Given the description of an element on the screen output the (x, y) to click on. 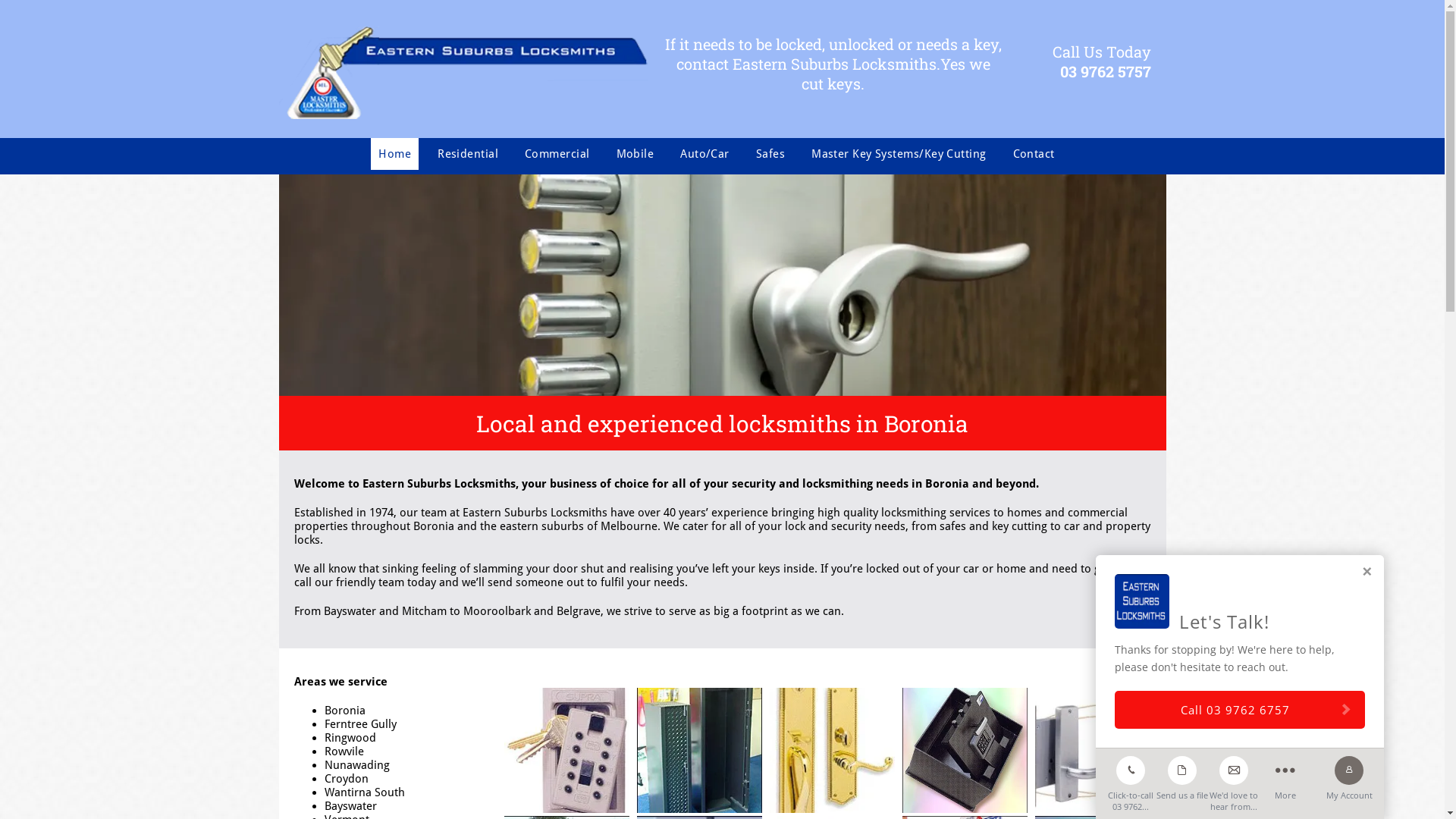
Commercial Element type: text (557, 153)
Residential Element type: text (467, 153)
03 9762 5757 Element type: text (1105, 71)
We'd love to hear from... Element type: text (1233, 780)
Mobile Element type: text (635, 153)
Auto/Car Element type: text (704, 153)
eastern suburbs locksmiths business logo Element type: hover (464, 72)
Home Element type: text (394, 153)
Click-to-call 03 9762... Element type: text (1130, 780)
Send us a file Element type: text (1182, 774)
eastern suburbs locksmiths door handle and lock Element type: hover (722, 285)
Safes Element type: text (770, 153)
My Account Element type: text (1348, 774)
Contact Element type: text (1033, 153)
Call 03 9762 6757 Element type: text (1239, 709)
Master Key Systems/Key Cutting Element type: text (898, 153)
